Given the description of an element on the screen output the (x, y) to click on. 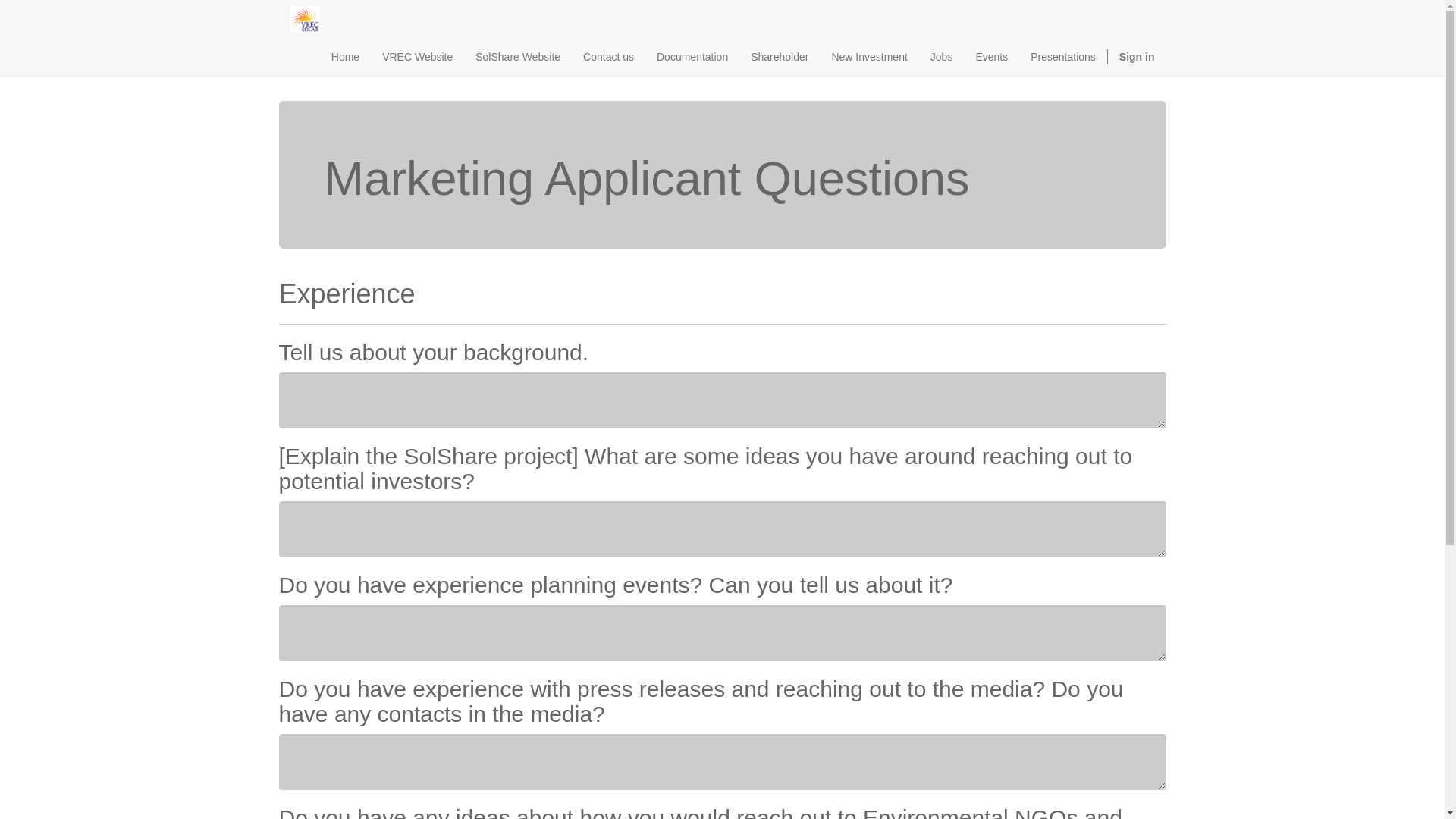
Shareholder (779, 56)
Sign in (1137, 56)
VREC Website (417, 56)
Home (345, 56)
New Investment (868, 56)
Vancouver Renewable Energy (303, 18)
Presentations (1062, 56)
Events (991, 56)
Jobs (940, 56)
SolShare Website (518, 56)
